Given the description of an element on the screen output the (x, y) to click on. 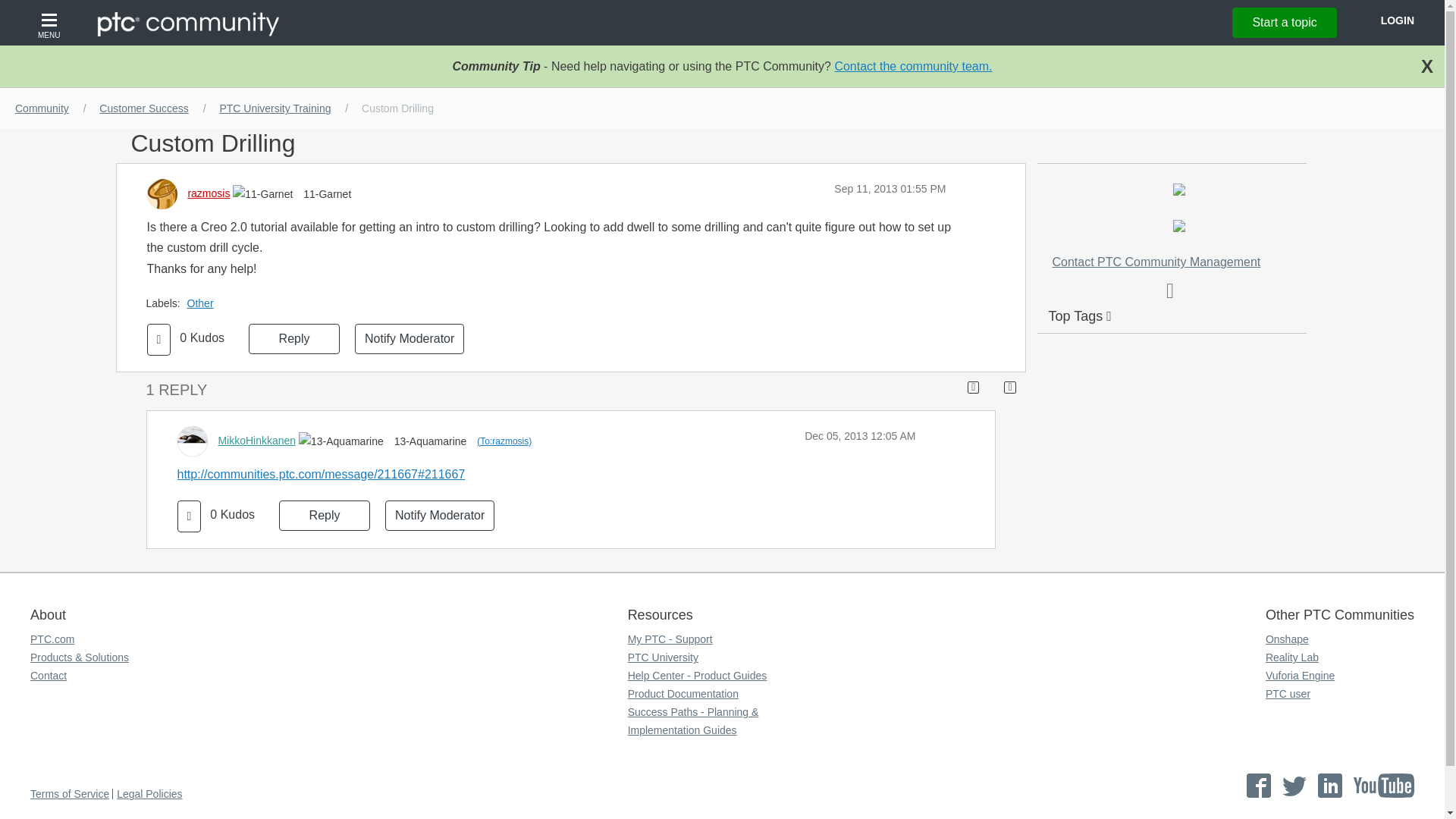
Other (204, 303)
LOGIN (1396, 20)
PTC University Training (274, 108)
MikkoHinkkanen (255, 440)
Notify Moderator (409, 338)
Start a topic (1283, 22)
Customer Success (143, 108)
Reply (293, 338)
Contact the community team. (912, 65)
Community (42, 108)
MENU (50, 22)
razmosis (208, 193)
